Given the description of an element on the screen output the (x, y) to click on. 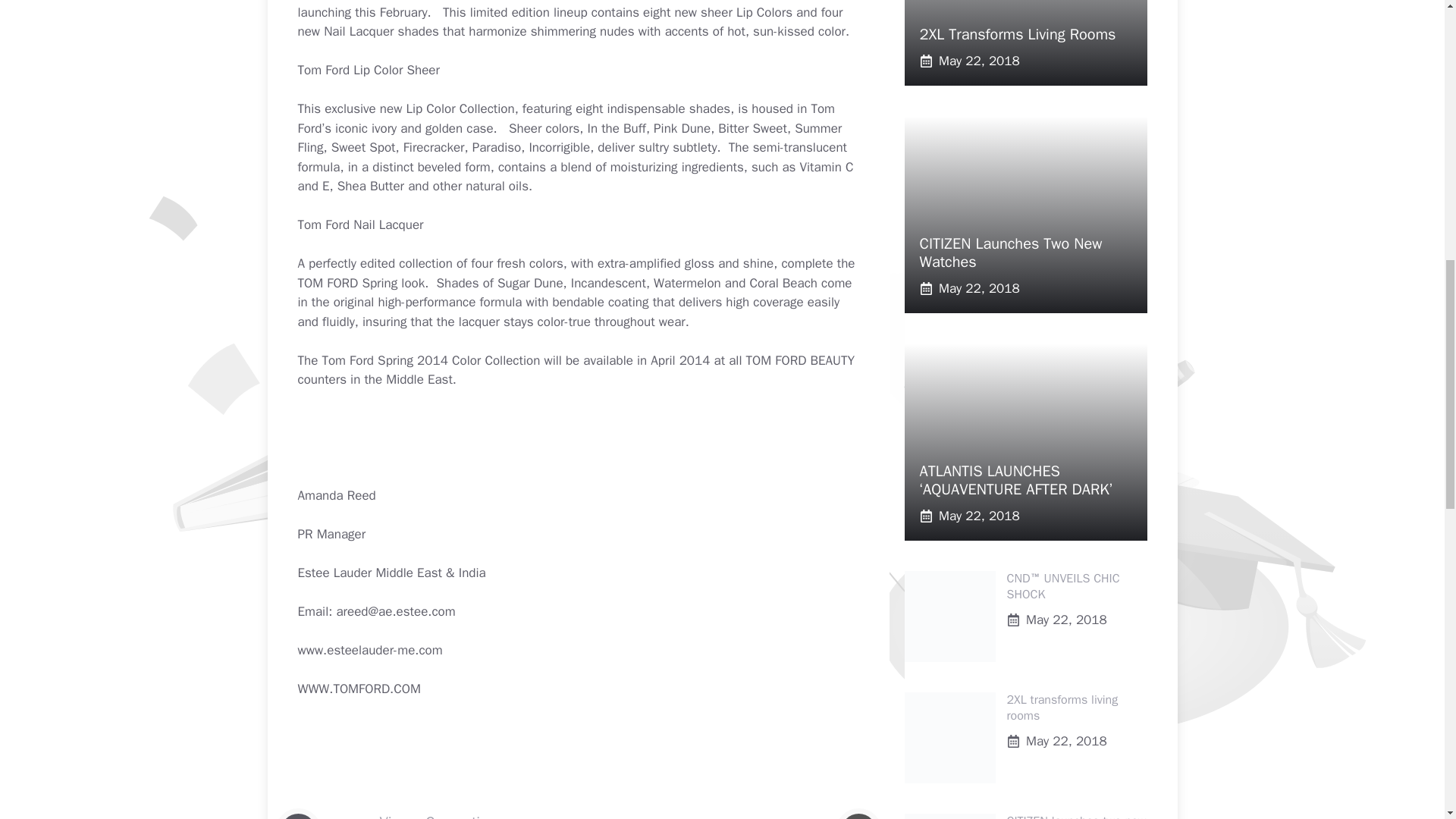
Scroll back to top (1406, 720)
